Given the description of an element on the screen output the (x, y) to click on. 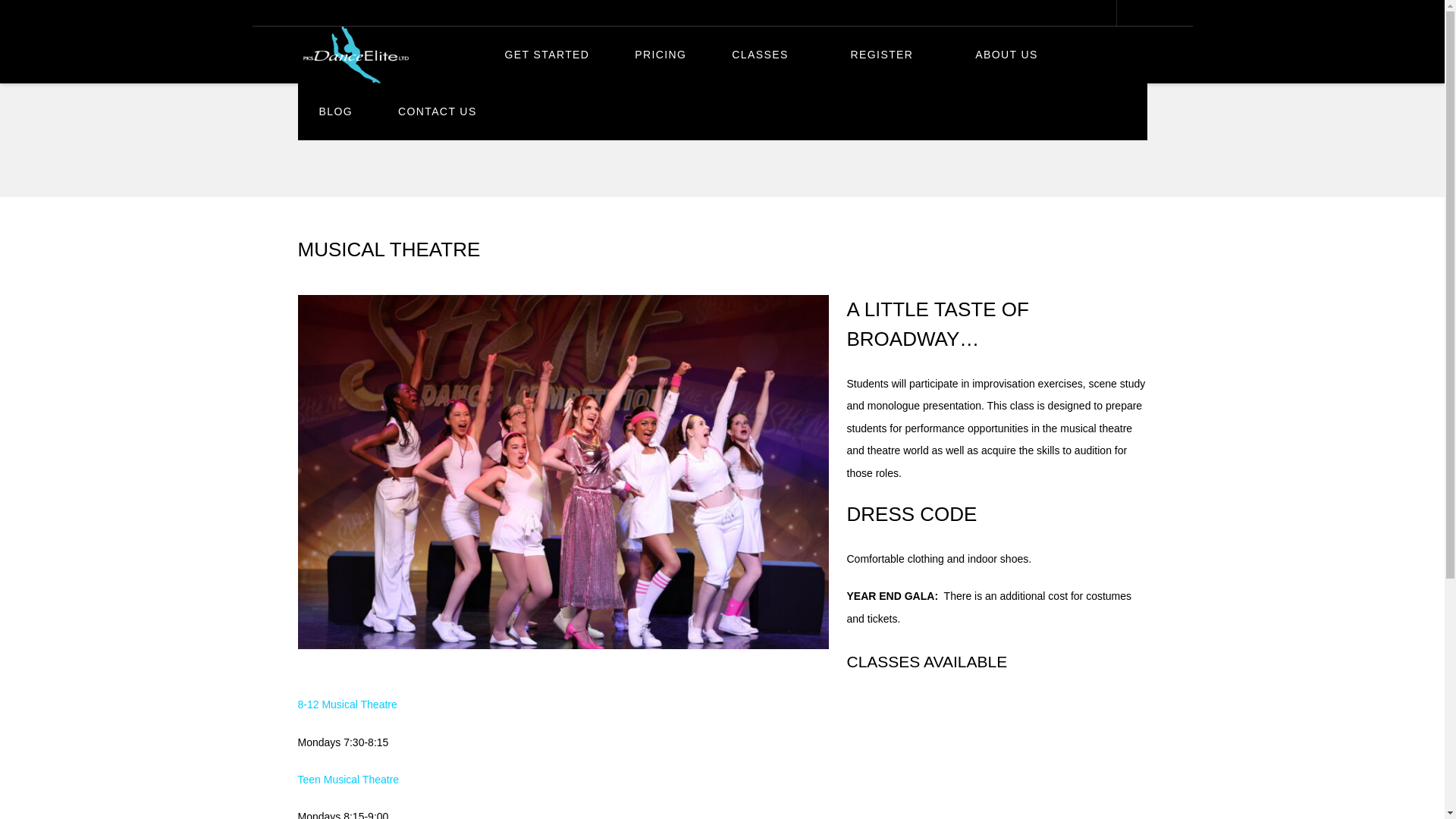
BLOG (335, 111)
ABOUT US (1014, 54)
REGISTER (890, 54)
CLASSES (767, 54)
PRICING (659, 54)
CONTACT US (446, 111)
8-12 Musical Theatre (346, 704)
Teen Musical Theatre (347, 779)
GET STARTED (547, 54)
